Given the description of an element on the screen output the (x, y) to click on. 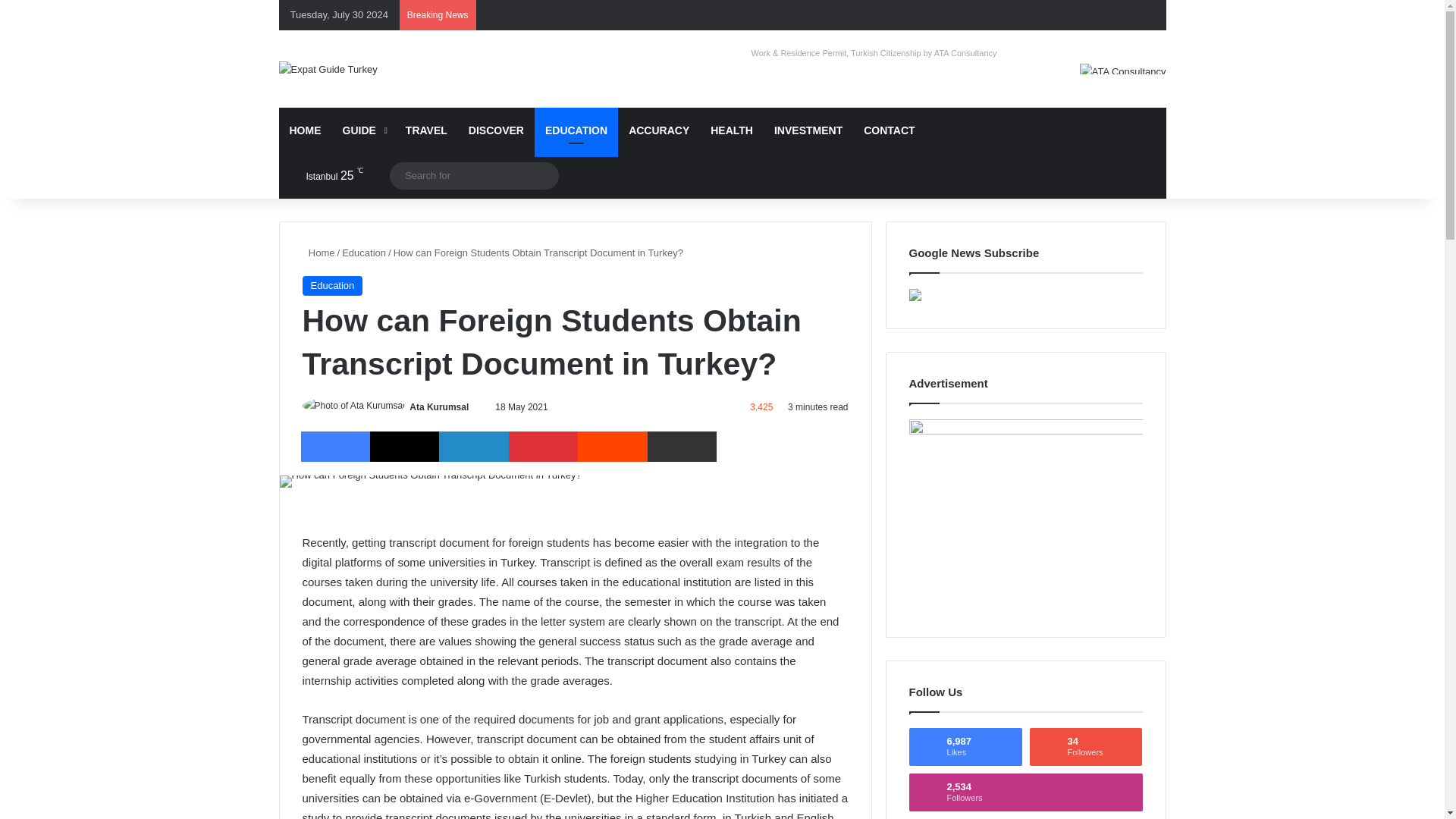
EDUCATION (575, 182)
Search for (474, 227)
HEALTH (731, 182)
Scattered Clouds (321, 227)
X (404, 499)
ACCURACY (658, 182)
Ata Kurumsal (438, 459)
Home (317, 305)
INVESTMENT (807, 182)
HOME (305, 182)
GUIDE (362, 182)
Education (331, 338)
Facebook (334, 499)
Share via Email (681, 499)
Pinterest (543, 499)
